Given the description of an element on the screen output the (x, y) to click on. 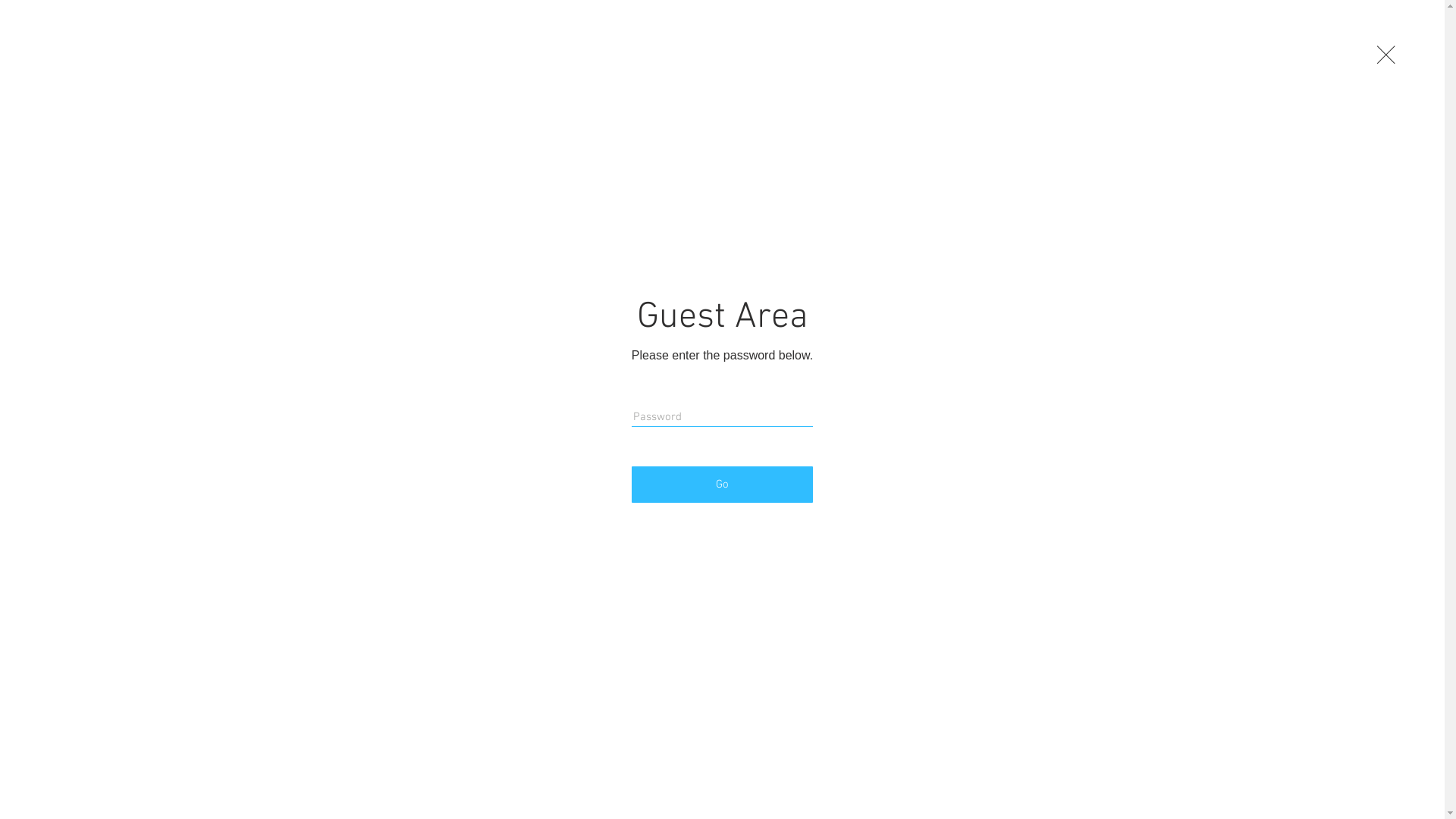
Go Element type: text (721, 484)
